Given the description of an element on the screen output the (x, y) to click on. 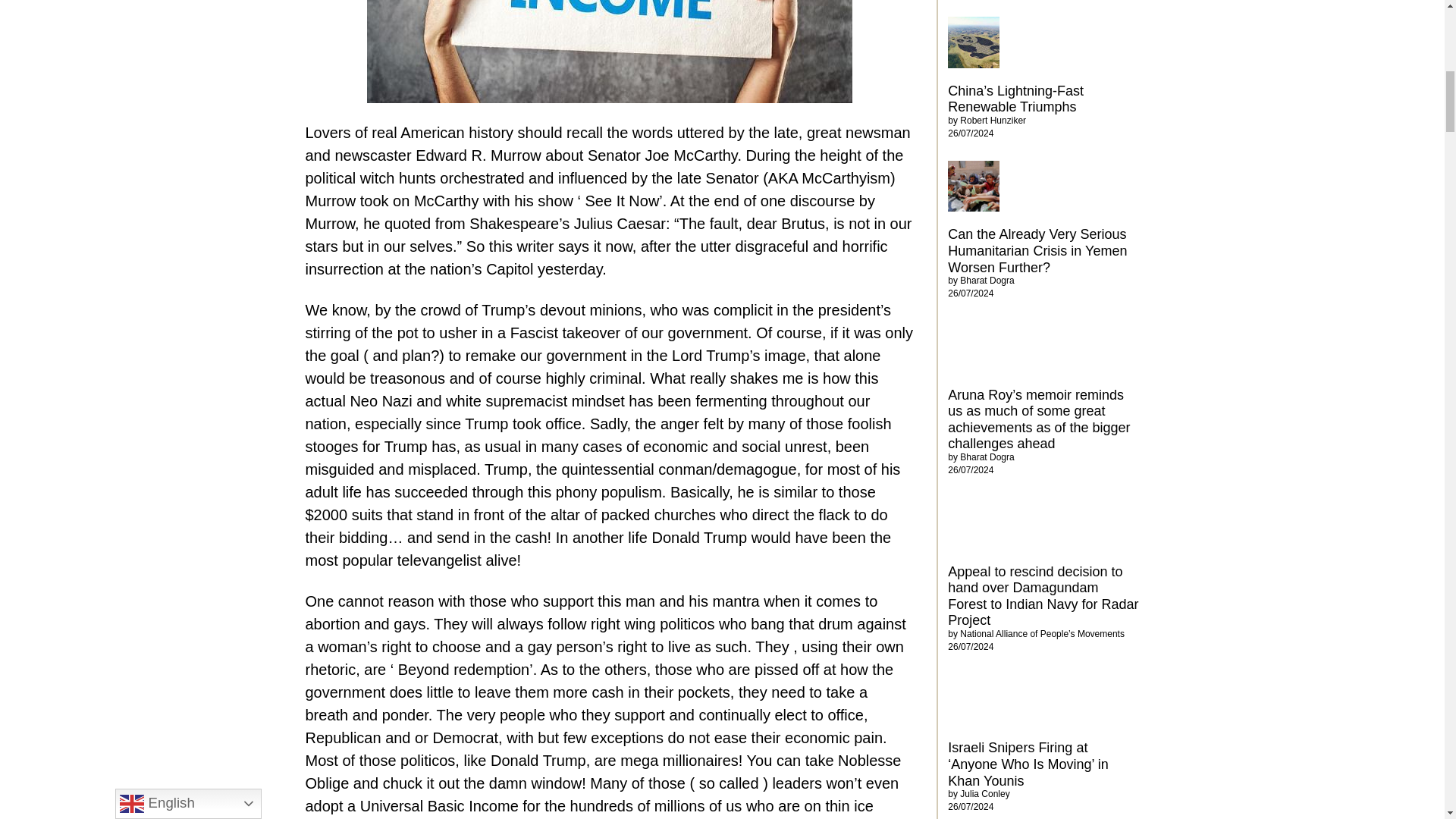
The Fault Dear Brutus Part 2 2 (608, 51)
